Given the description of an element on the screen output the (x, y) to click on. 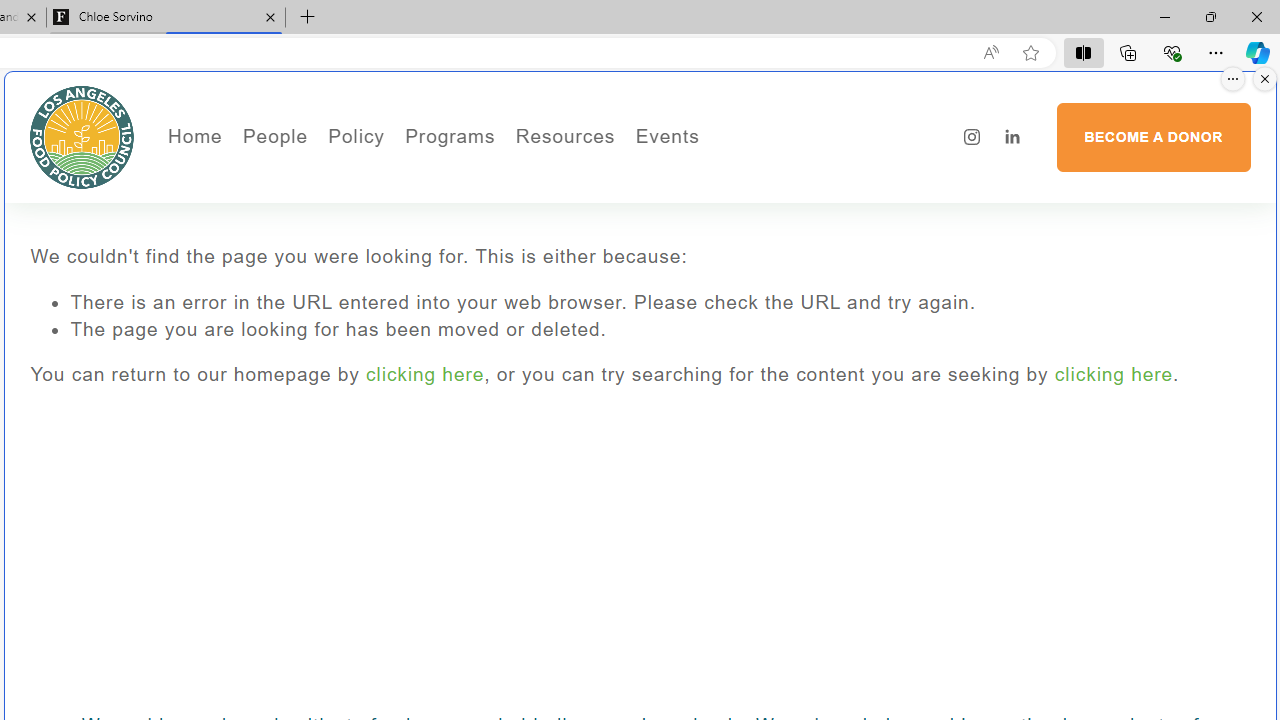
Instagram (972, 137)
Working Groups and Alliances (468, 176)
Policy (356, 136)
Resources (564, 136)
The page you are looking for has been moved or deleted. (660, 330)
BECOME A DONOR (1153, 137)
Food Rescue Macro Grants (643, 232)
Programs (450, 136)
